Given the description of an element on the screen output the (x, y) to click on. 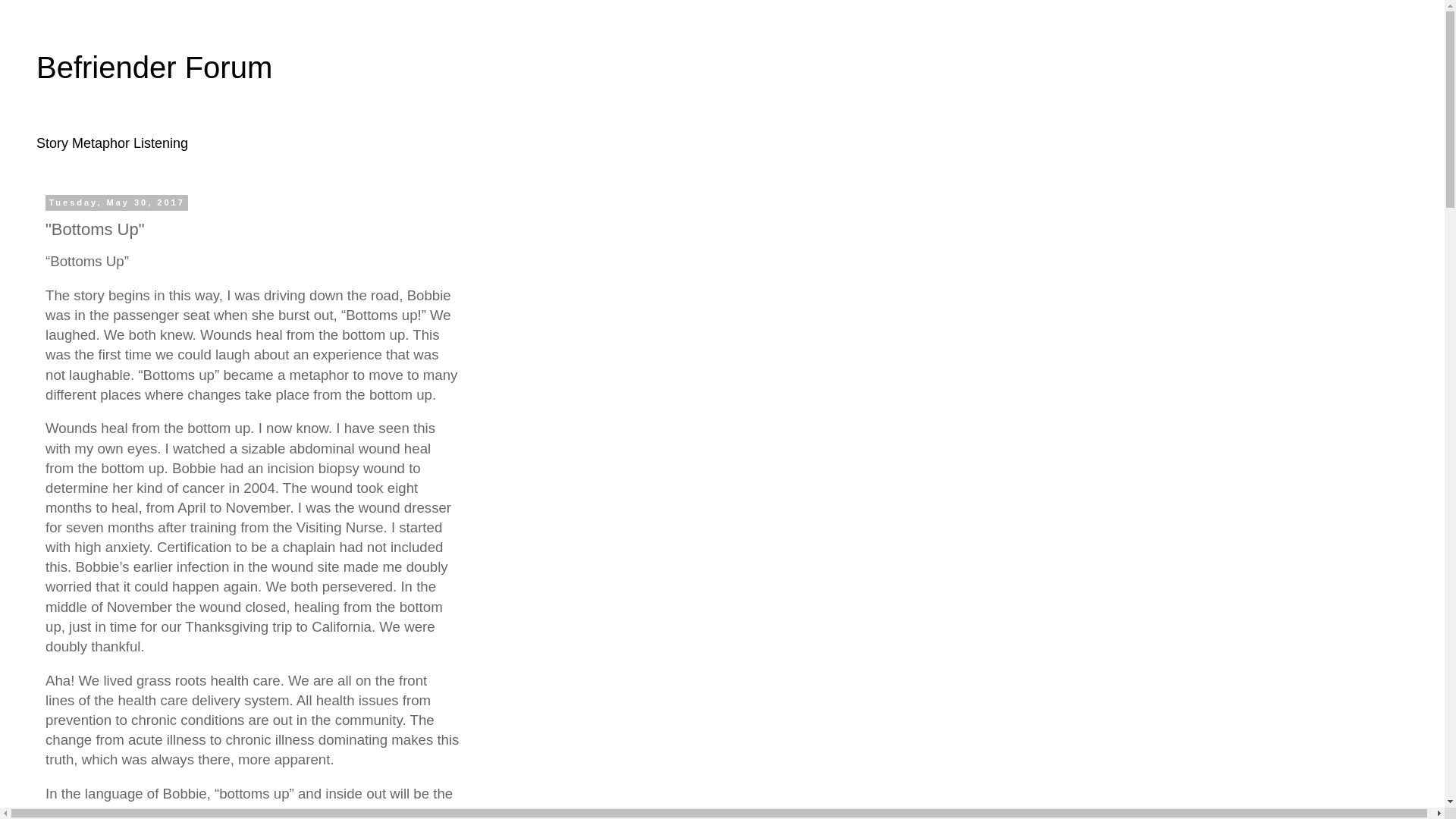
Befriender Forum (154, 67)
